Given the description of an element on the screen output the (x, y) to click on. 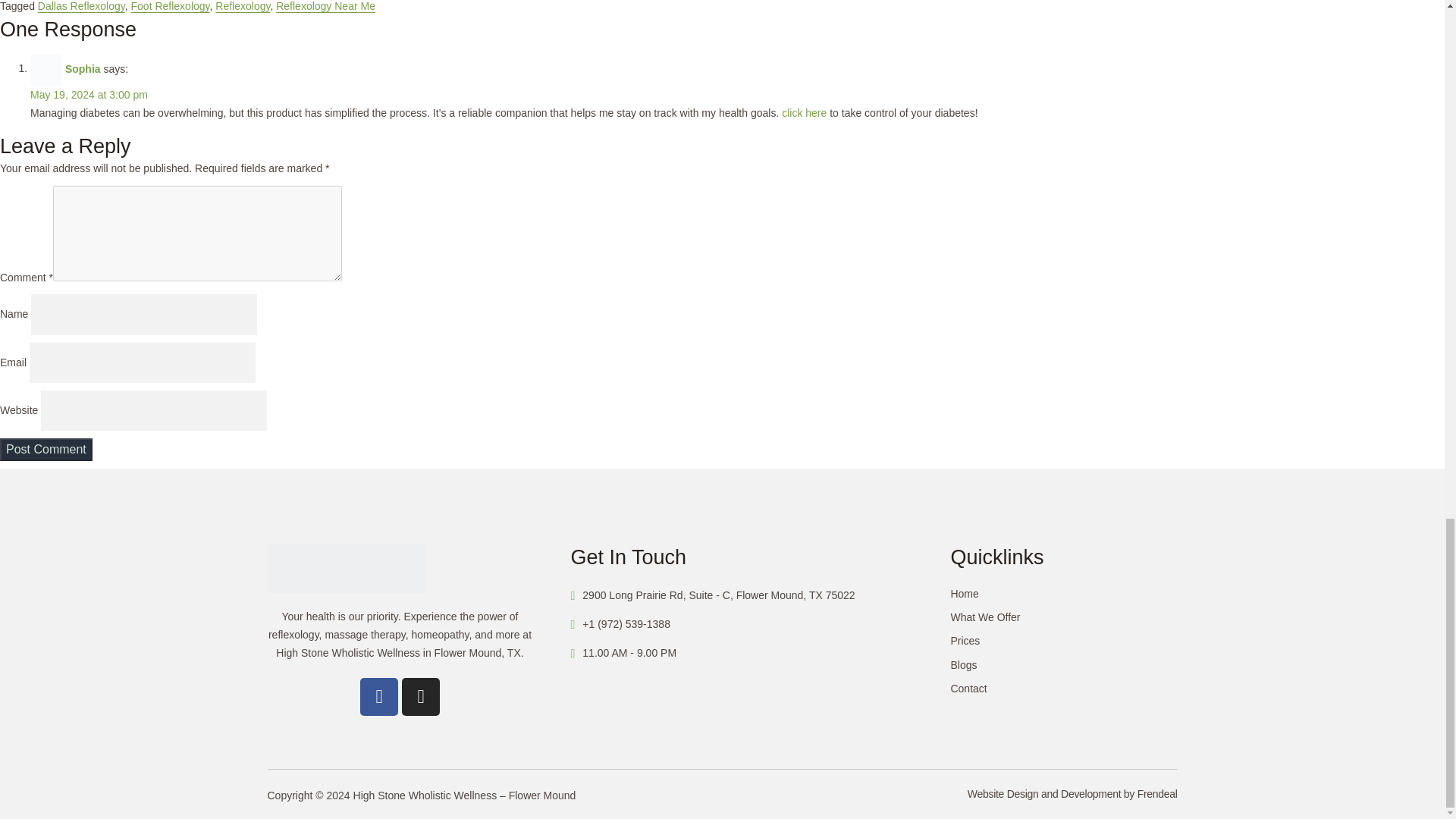
2900 Long Prairie Rd, Suite - C, Flower Mound, TX 75022 (760, 592)
Foot Reflexology (170, 6)
Get In Touch (760, 557)
Home (1061, 594)
Sophia (1061, 643)
Quicklinks (82, 68)
Reflexology (1061, 557)
11.00 AM - 9.00 PM (242, 6)
Blogs (760, 651)
11.00 AM - 9.00 PM (1061, 665)
Website Design and Development by Frendeal (623, 652)
click here (1072, 793)
Post Comment (804, 112)
